Given the description of an element on the screen output the (x, y) to click on. 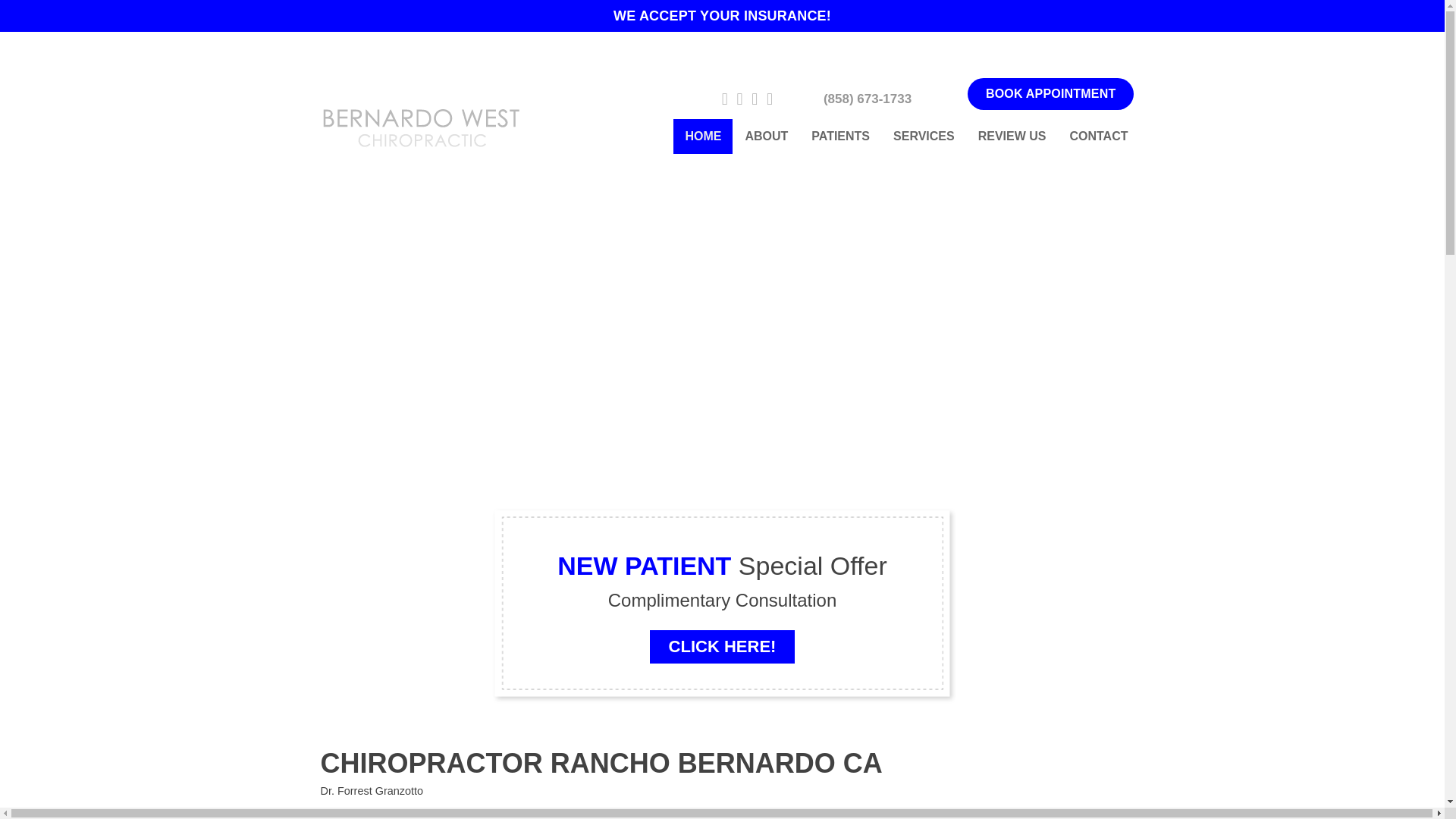
Click Here (721, 646)
Paris-Logo (419, 117)
